Given the description of an element on the screen output the (x, y) to click on. 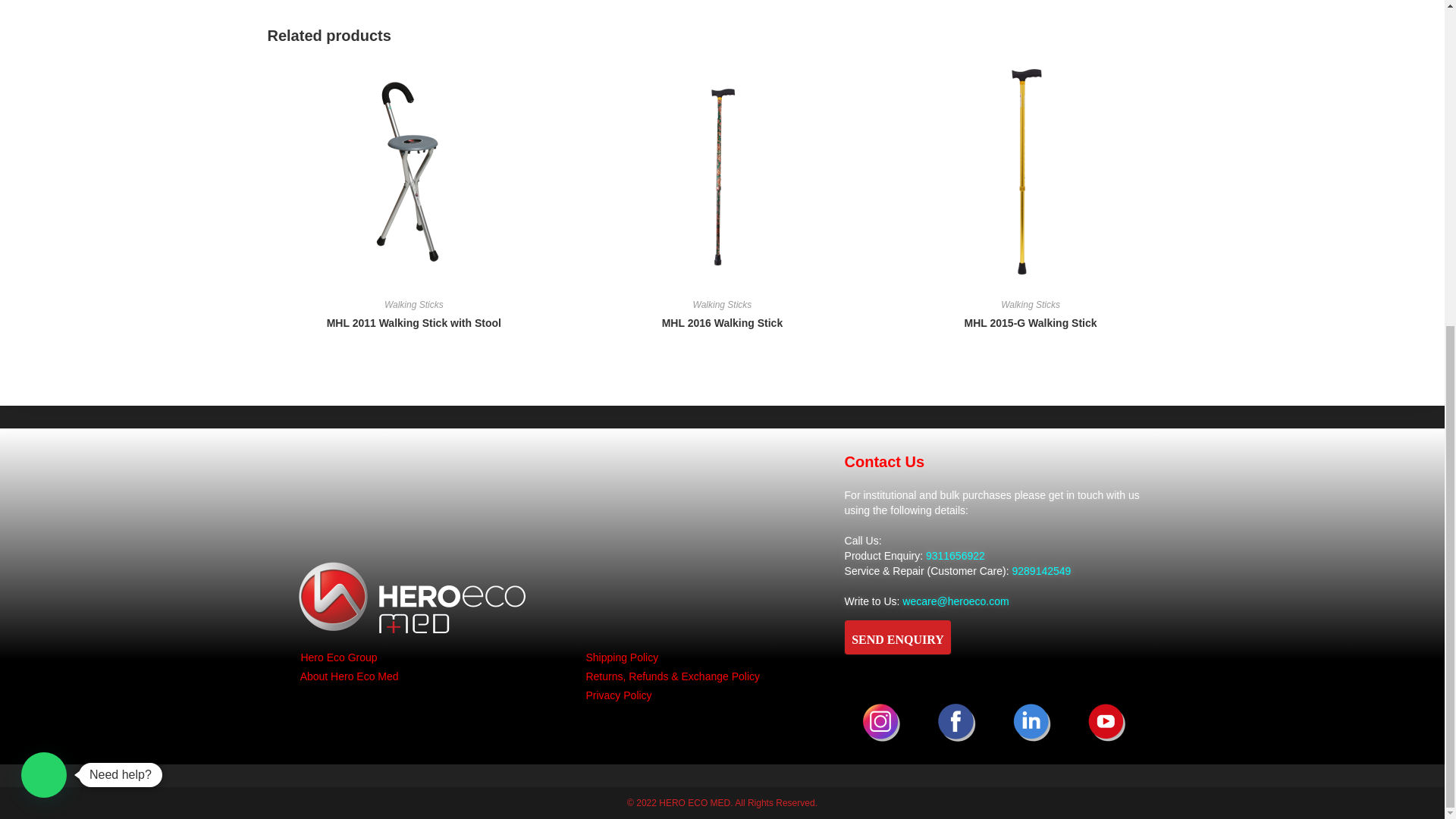
Send your product enquiry here (897, 102)
